Given the description of an element on the screen output the (x, y) to click on. 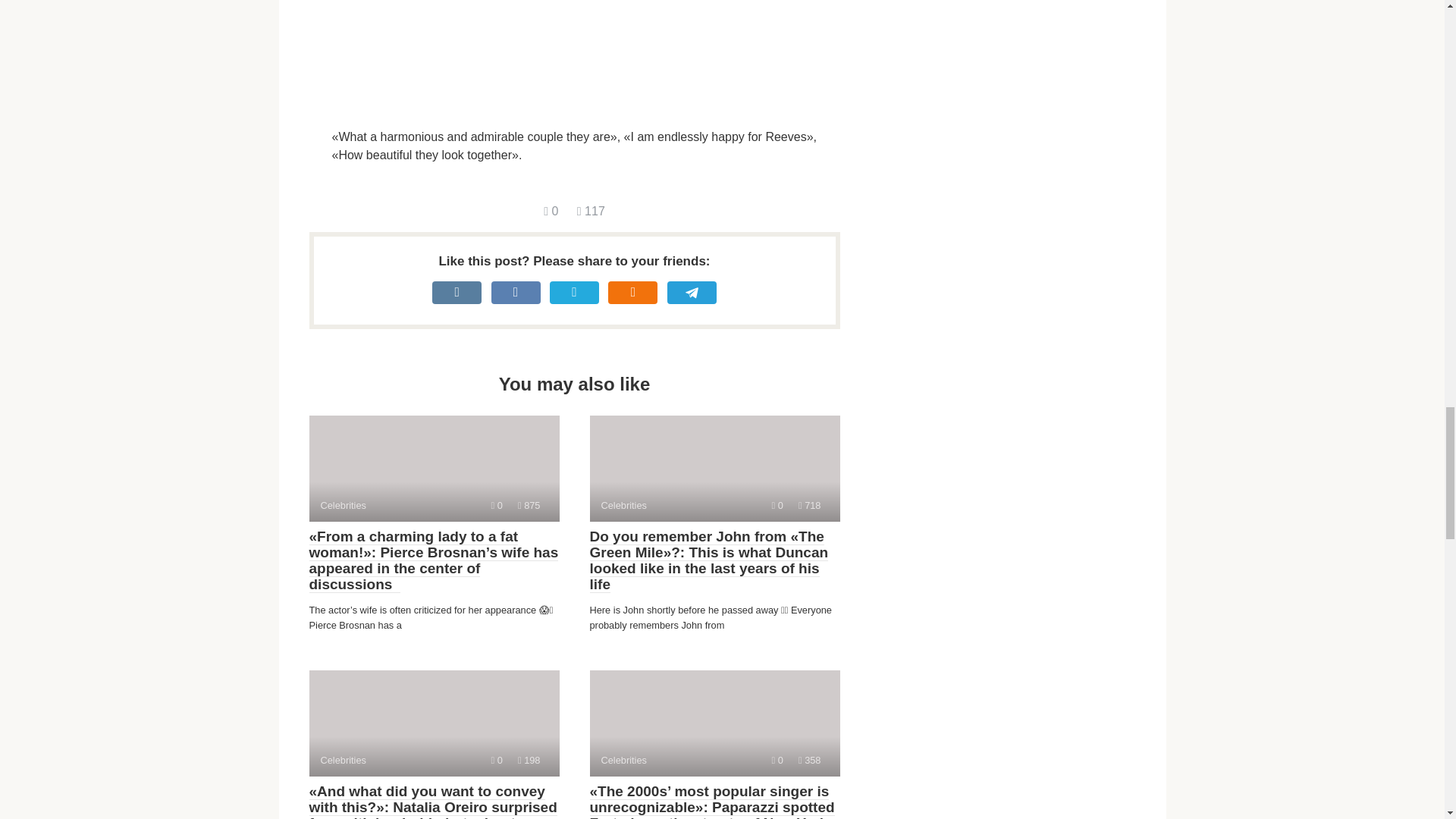
Views (809, 505)
Comments (714, 723)
Views (550, 210)
Views (809, 759)
Views (529, 759)
Comments (433, 468)
Comments (529, 505)
